Given the description of an element on the screen output the (x, y) to click on. 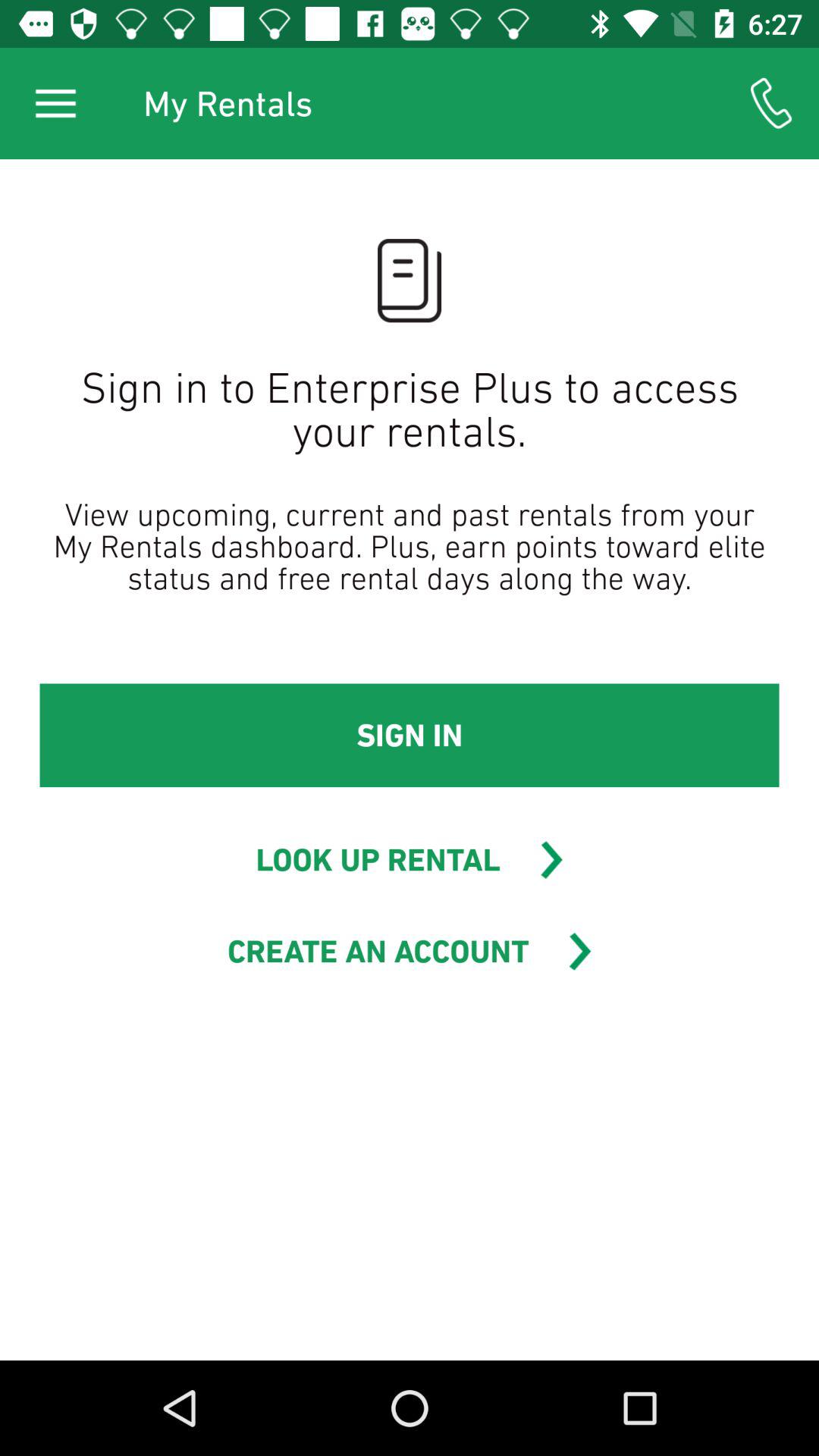
choose icon to the right of my rentals item (771, 103)
